Given the description of an element on the screen output the (x, y) to click on. 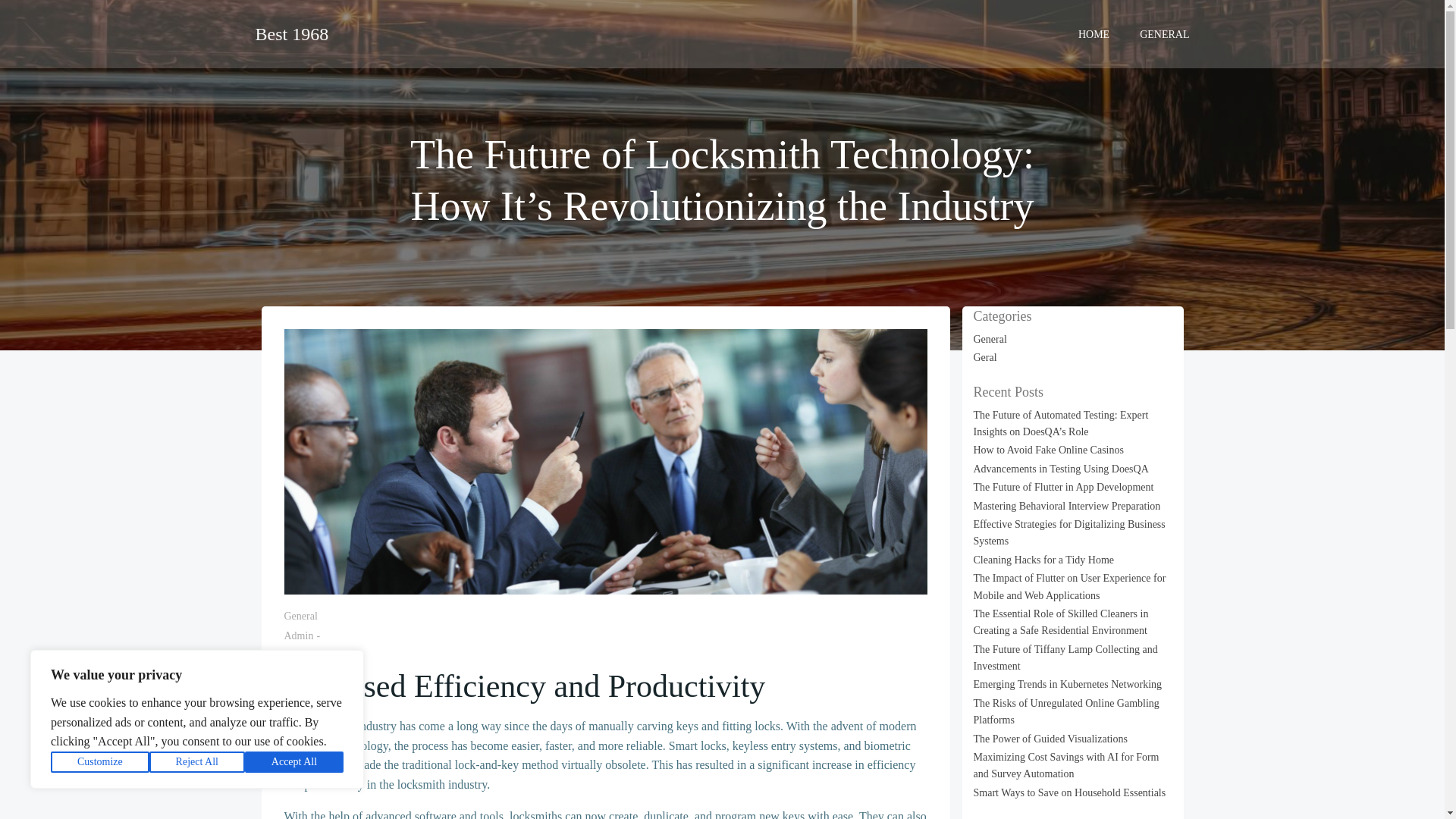
Geral (985, 357)
Admin (298, 635)
Accept All (293, 762)
GENERAL (1164, 33)
General (300, 616)
Best 1968 (291, 33)
HOME (1093, 33)
Customize (99, 762)
Reject All (196, 762)
How to Avoid Fake Online Casinos (1049, 449)
General (990, 338)
